Given the description of an element on the screen output the (x, y) to click on. 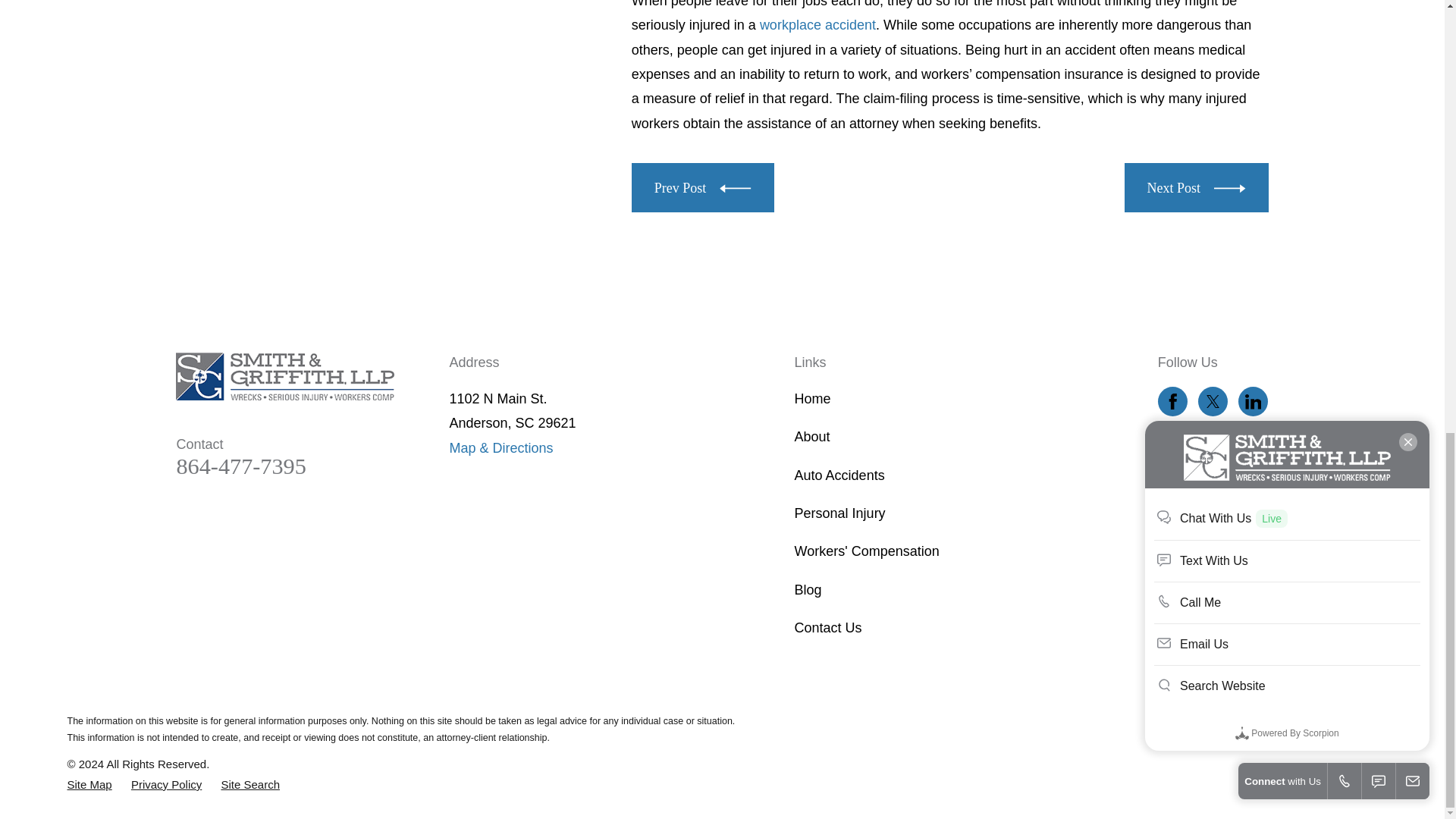
Home (285, 376)
Twitter (1213, 401)
Facebook (1172, 401)
LinkedIn (1253, 401)
